Given the description of an element on the screen output the (x, y) to click on. 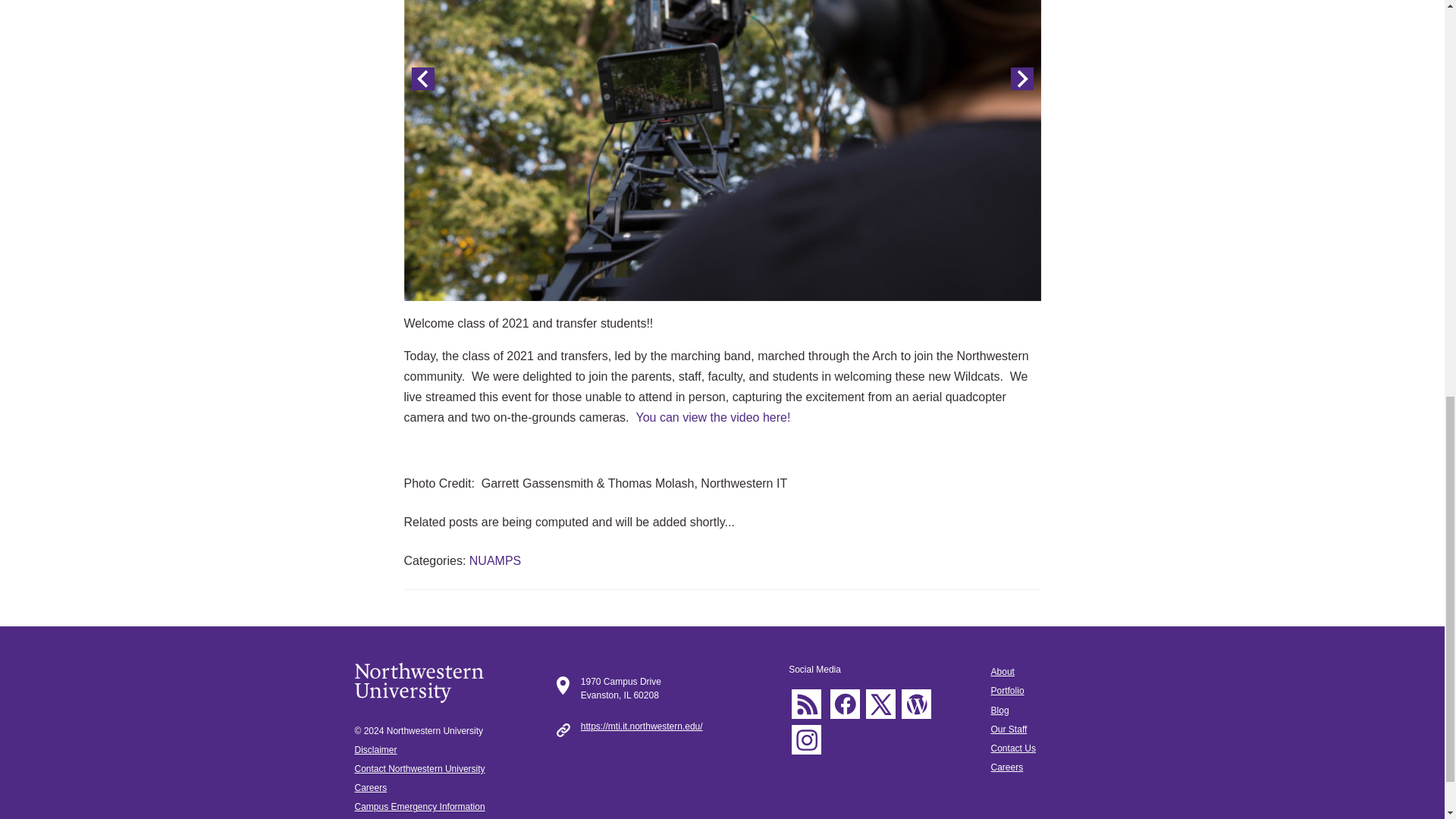
Careers (371, 787)
NUAMPS (494, 560)
Campus Emergency Information (419, 806)
Contact Northwestern University (419, 768)
You can view the video here! (712, 417)
Disclaimer (376, 749)
